Given the description of an element on the screen output the (x, y) to click on. 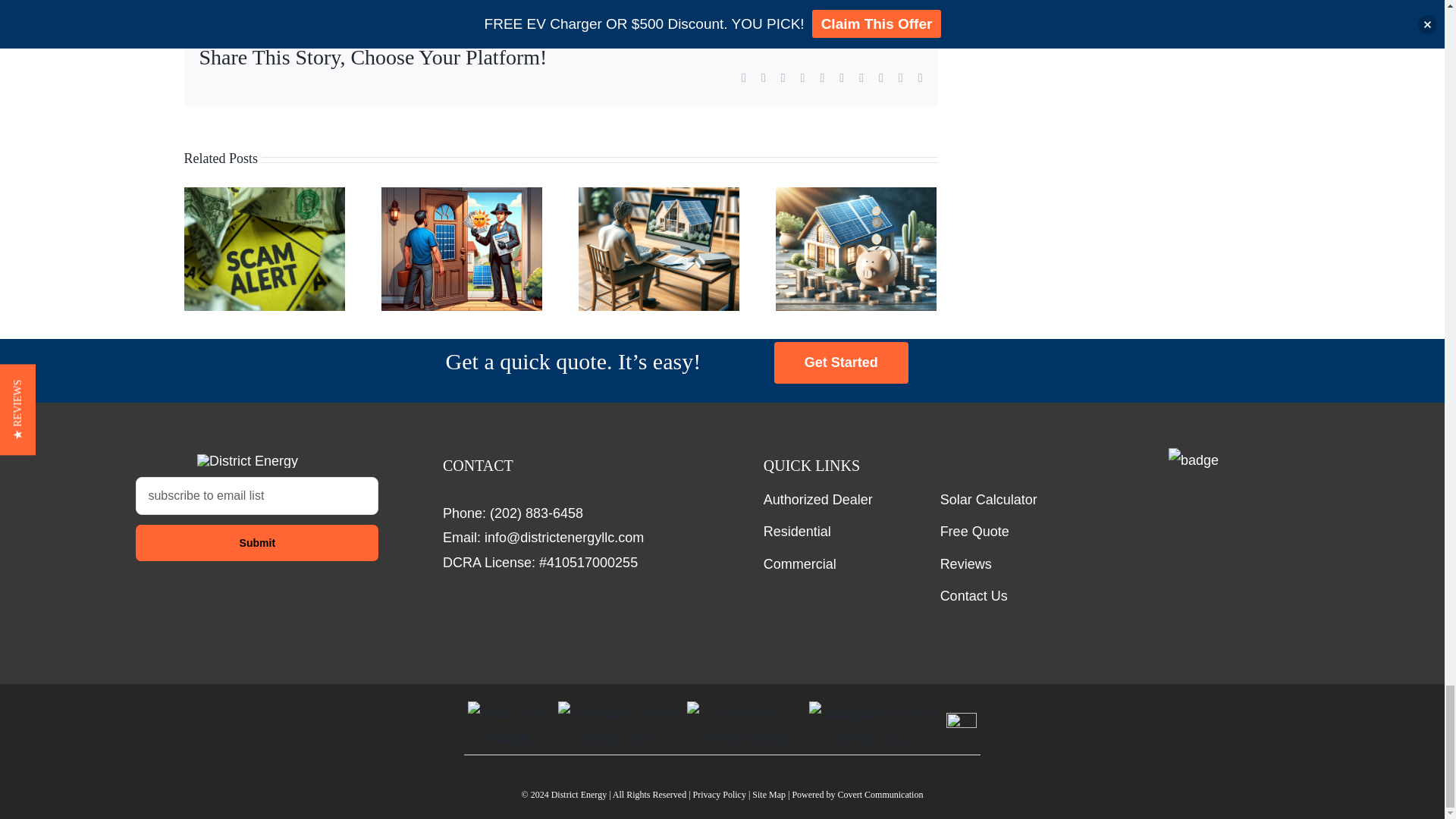
Phone (536, 513)
Submit (256, 542)
Subscribe to our Newsletter (256, 542)
